Given the description of an element on the screen output the (x, y) to click on. 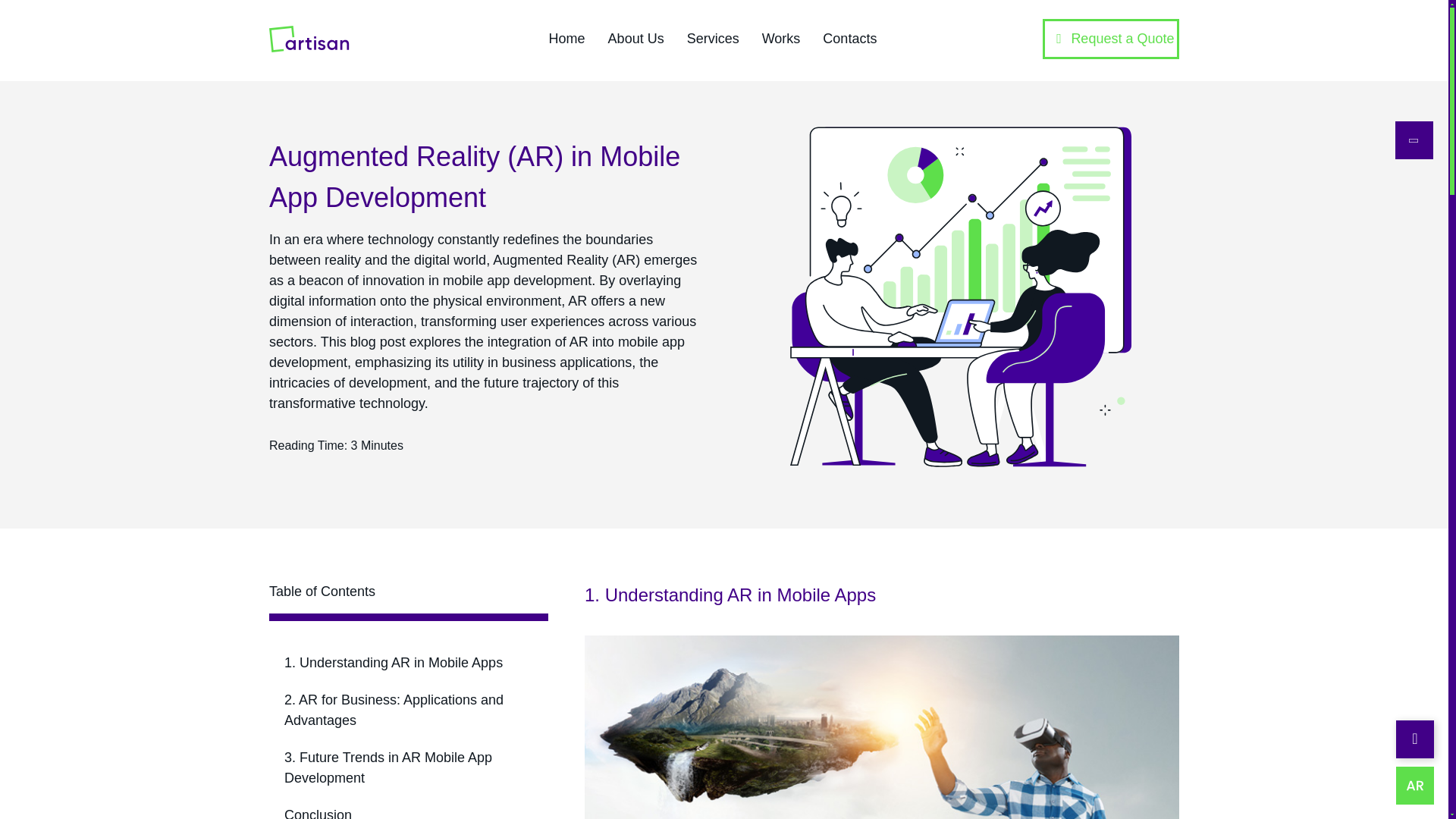
Choosing the Right Web Design Company: Why It Matters (960, 296)
About Us (635, 38)
Services (713, 38)
0 (408, 616)
augmented-reality-ar-in-mobile-app-development-1 (882, 727)
